Given the description of an element on the screen output the (x, y) to click on. 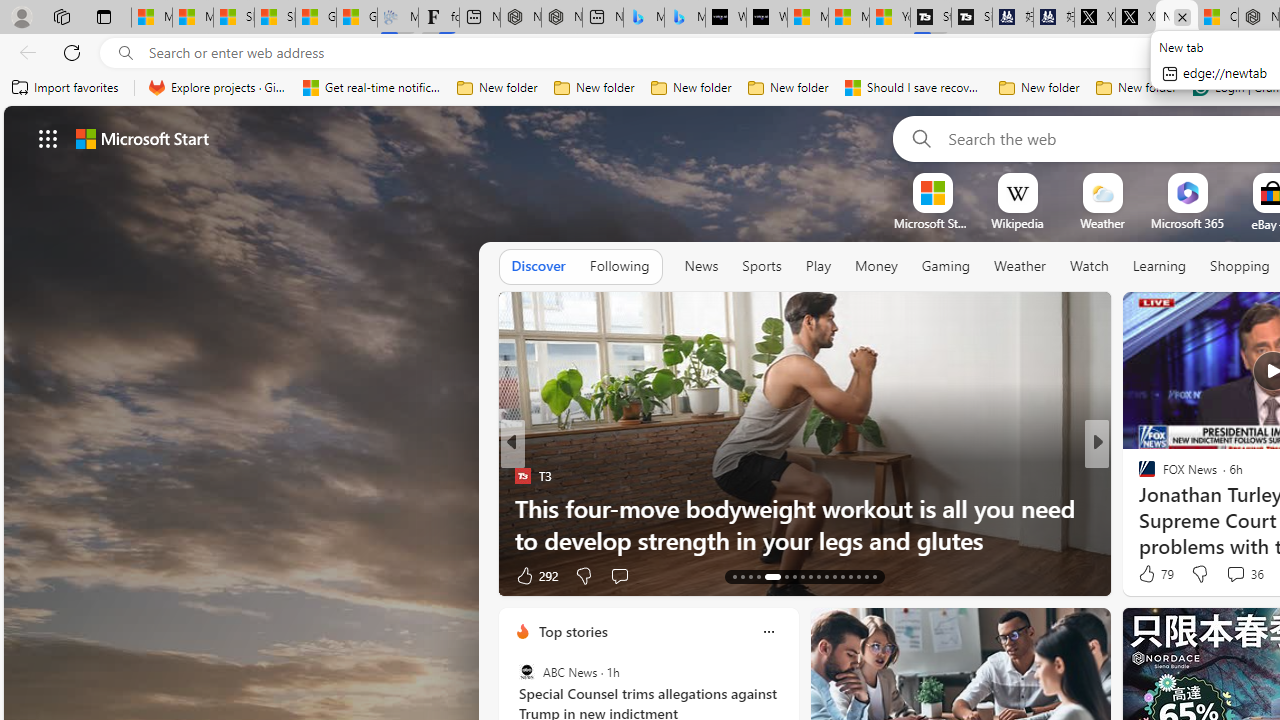
AutomationID: tab-16 (757, 576)
New folder (1136, 88)
News (701, 265)
View comments 17 Comment (1234, 575)
Microsoft Start (849, 17)
AutomationID: tab-40 (874, 576)
Following (619, 267)
View comments 1 Comment (1229, 575)
Start the conversation (1229, 574)
Shanghai, China weather forecast | Microsoft Weather (274, 17)
Import favorites (65, 88)
Microsoft Bing Travel - Stays in Bangkok, Bangkok, Thailand (643, 17)
Live Science (1138, 475)
